Given the description of an element on the screen output the (x, y) to click on. 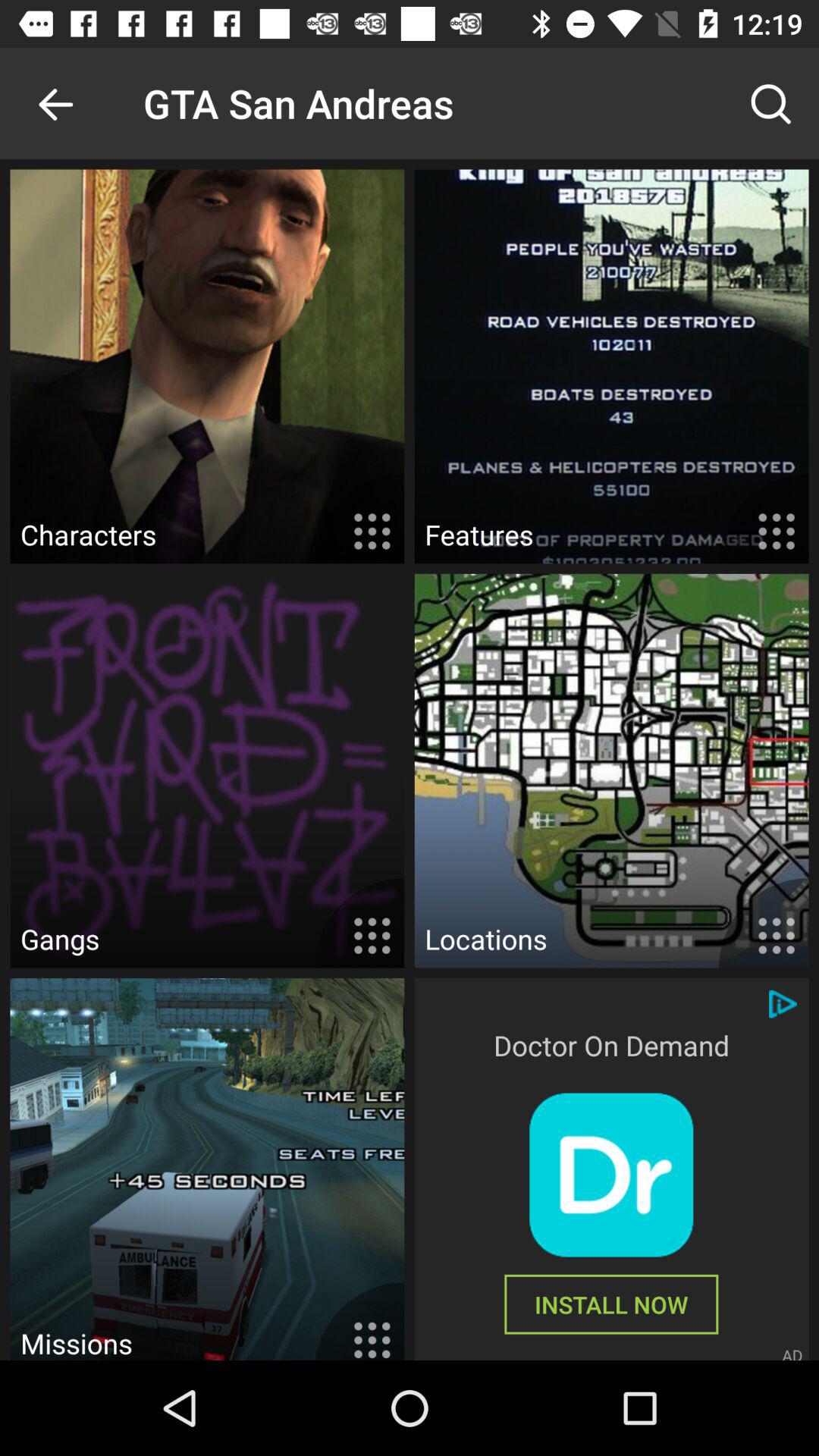
select the item to the left of the ad icon (611, 1304)
